Given the description of an element on the screen output the (x, y) to click on. 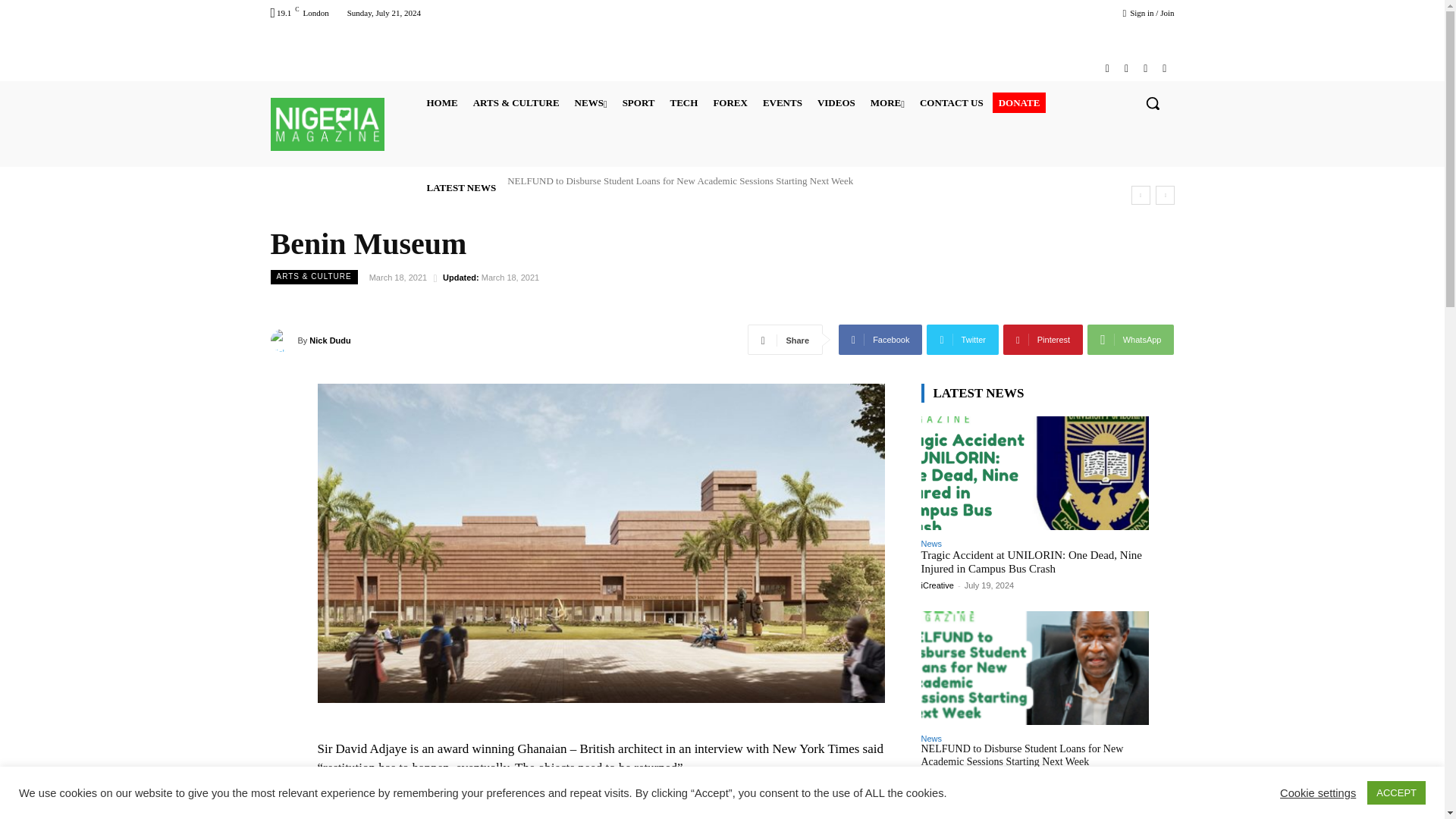
NEWS (590, 102)
HOME (441, 102)
Facebook (1106, 67)
Instagram (1125, 67)
